Given the description of an element on the screen output the (x, y) to click on. 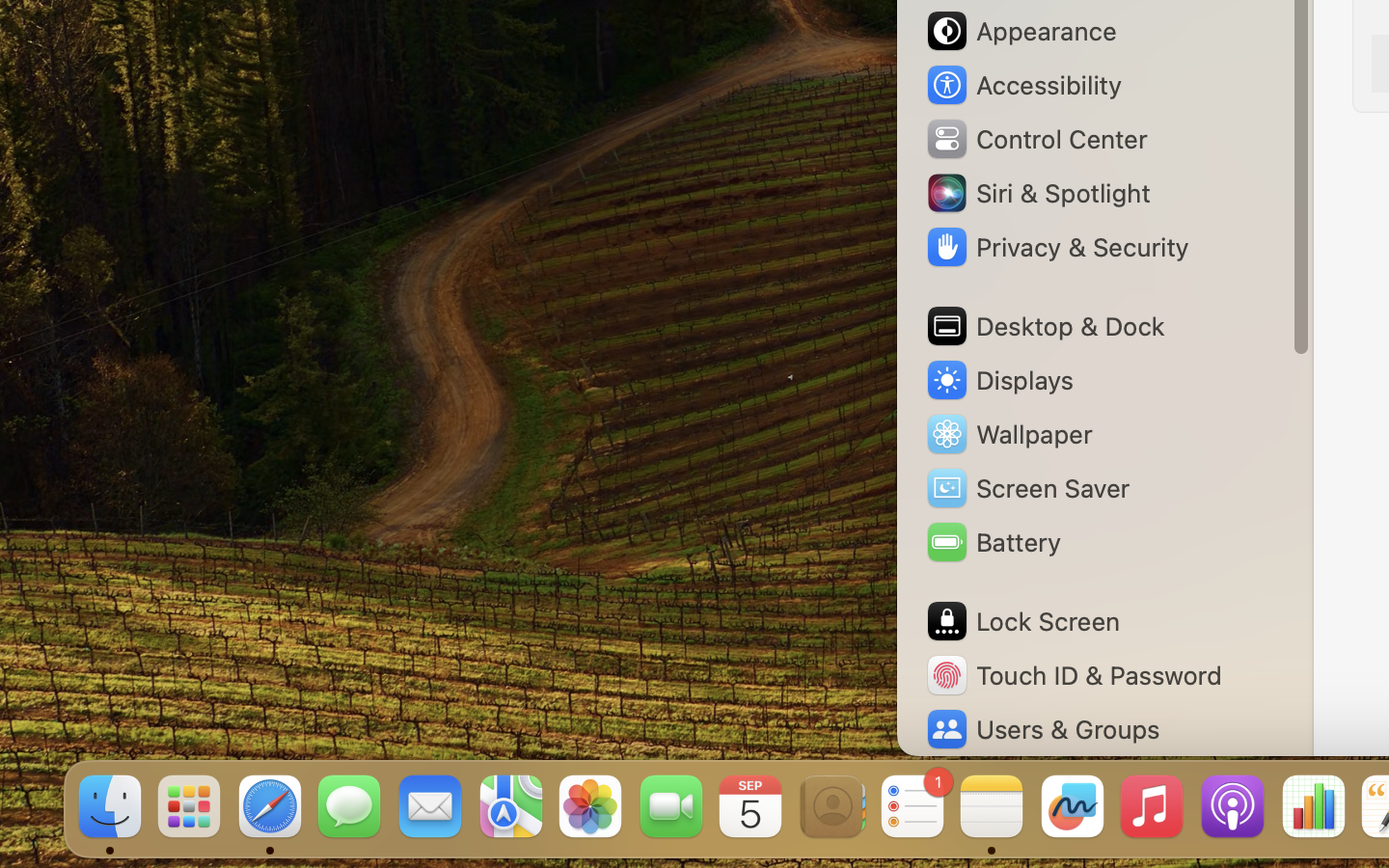
Accessibility Element type: AXStaticText (1023, 84)
Displays Element type: AXStaticText (999, 379)
Users & Groups Element type: AXStaticText (1041, 728)
